Given the description of an element on the screen output the (x, y) to click on. 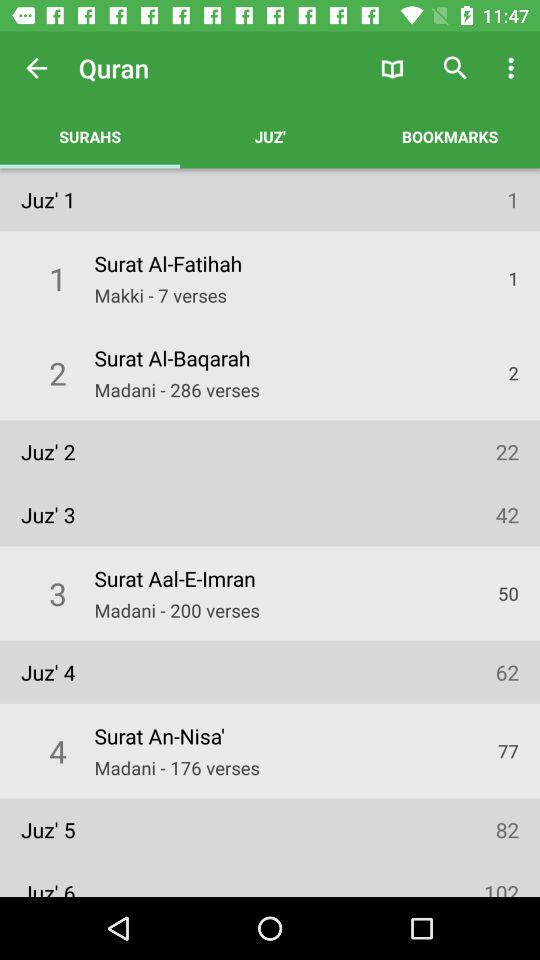
press the item above surat al-fatihah item (270, 136)
